Given the description of an element on the screen output the (x, y) to click on. 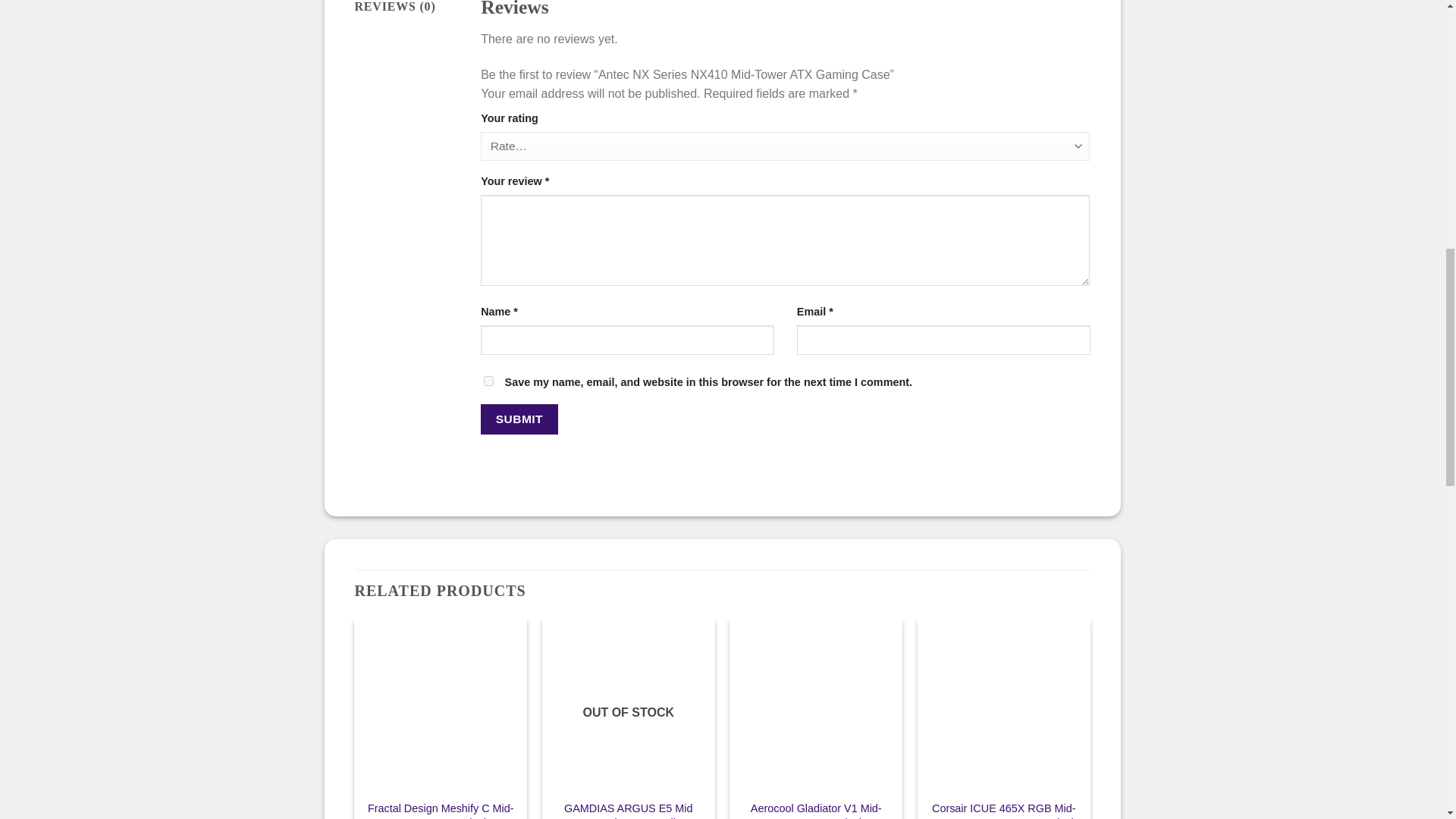
yes (488, 380)
Submit (518, 419)
